Given the description of an element on the screen output the (x, y) to click on. 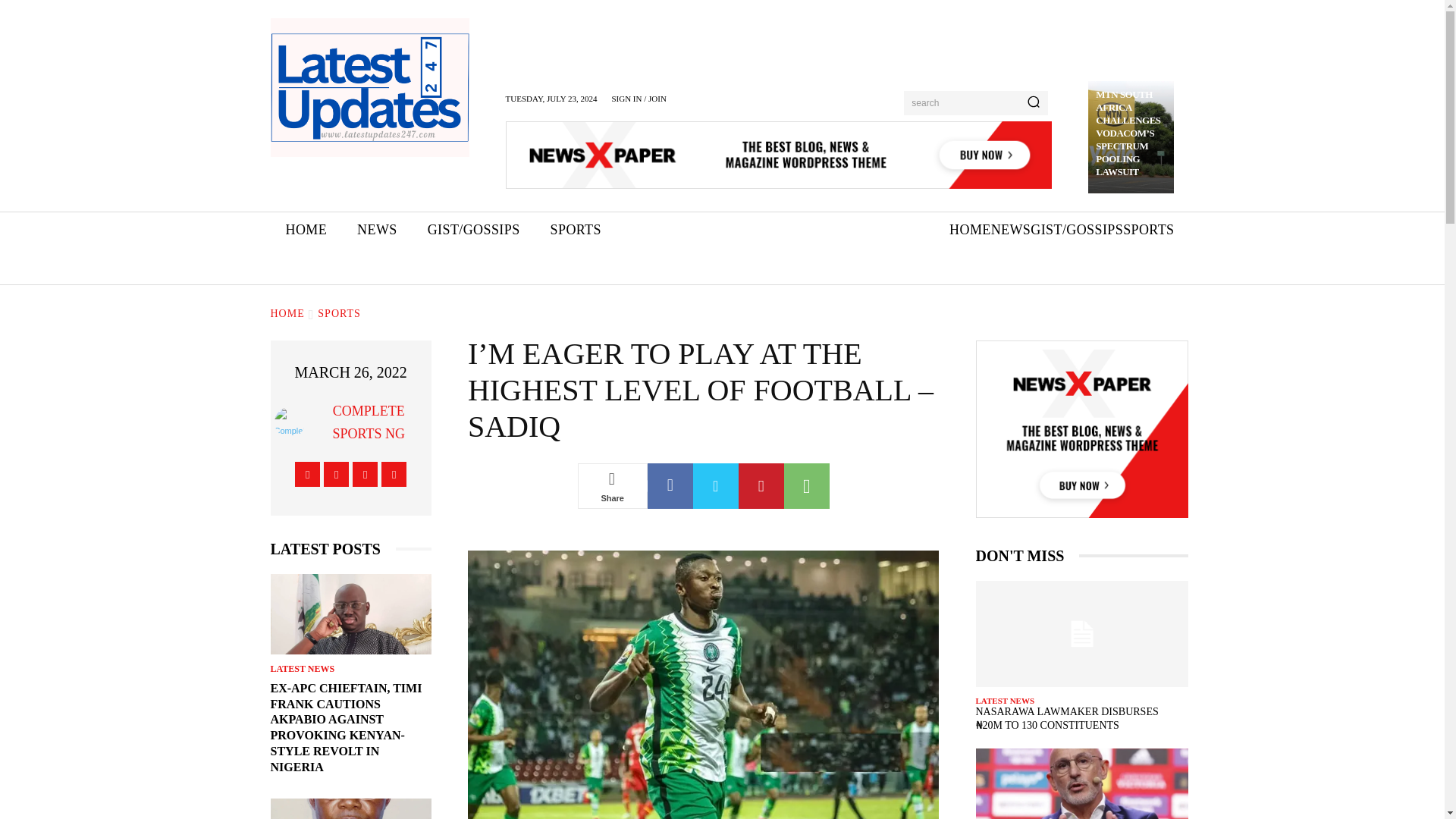
NEWS (1010, 229)
NEWS (377, 229)
SPORTS (575, 229)
Facebook (307, 473)
HOME (286, 313)
LATEST NEWS (301, 668)
Instagram (336, 473)
SPORTS (339, 313)
HOME (305, 229)
Complete Sports NG (294, 422)
Youtube (393, 473)
Twitter (364, 473)
